Given the description of an element on the screen output the (x, y) to click on. 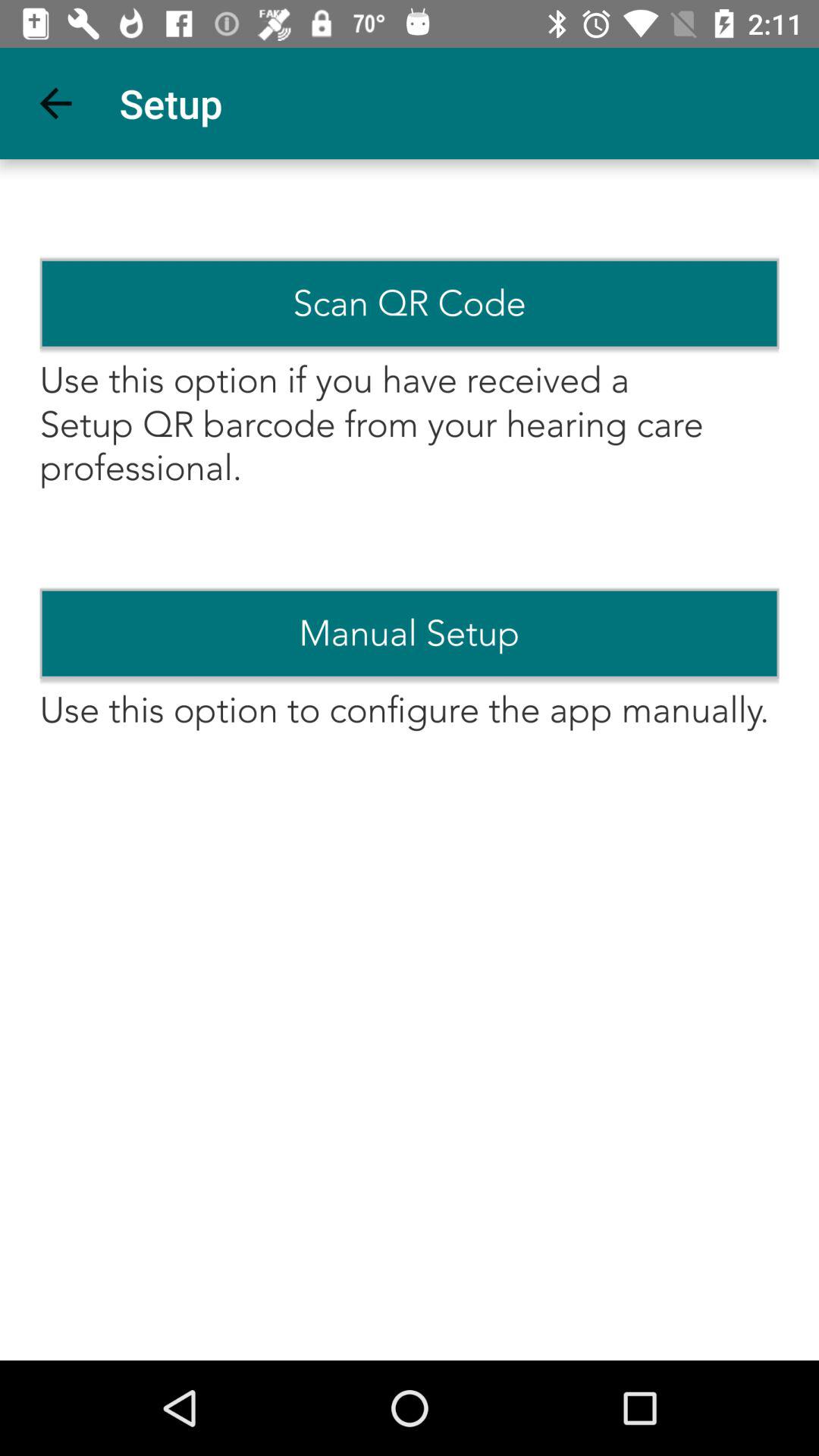
turn off item below use this option item (409, 633)
